Given the description of an element on the screen output the (x, y) to click on. 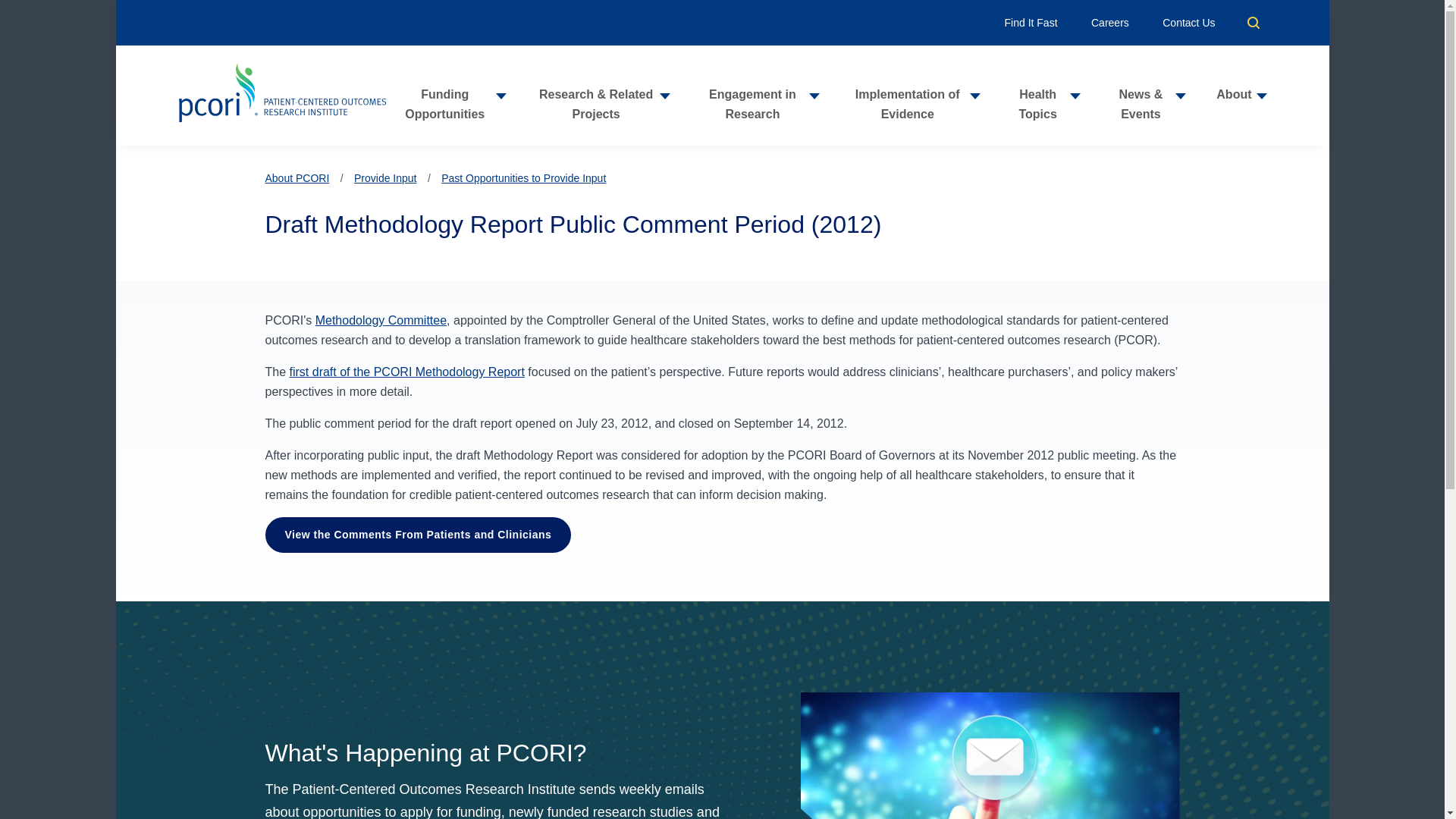
Search (1252, 22)
Careers (1109, 22)
Find It Fast (1031, 22)
Contact Us (1187, 22)
Skip to main content (721, 6)
Home (281, 95)
